Given the description of an element on the screen output the (x, y) to click on. 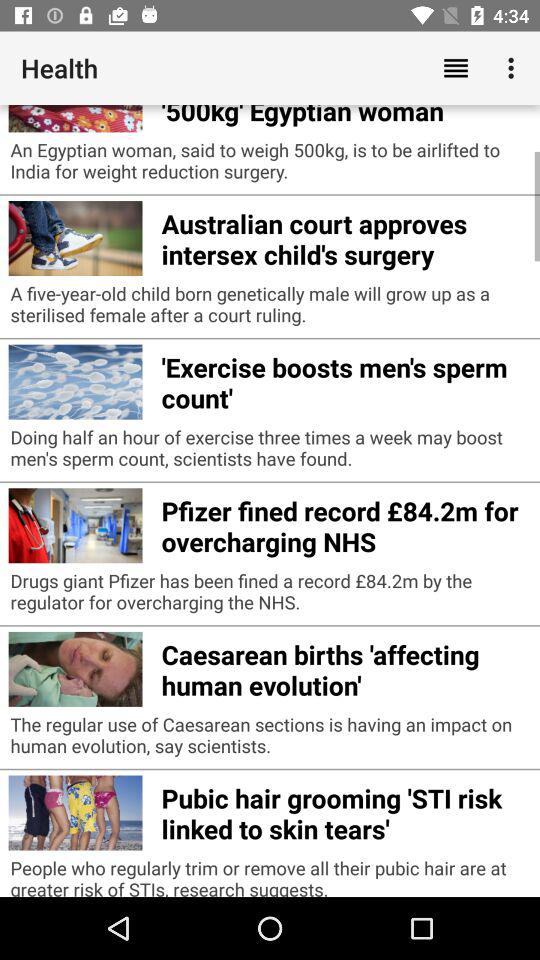
turn off australian court approves (345, 236)
